Given the description of an element on the screen output the (x, y) to click on. 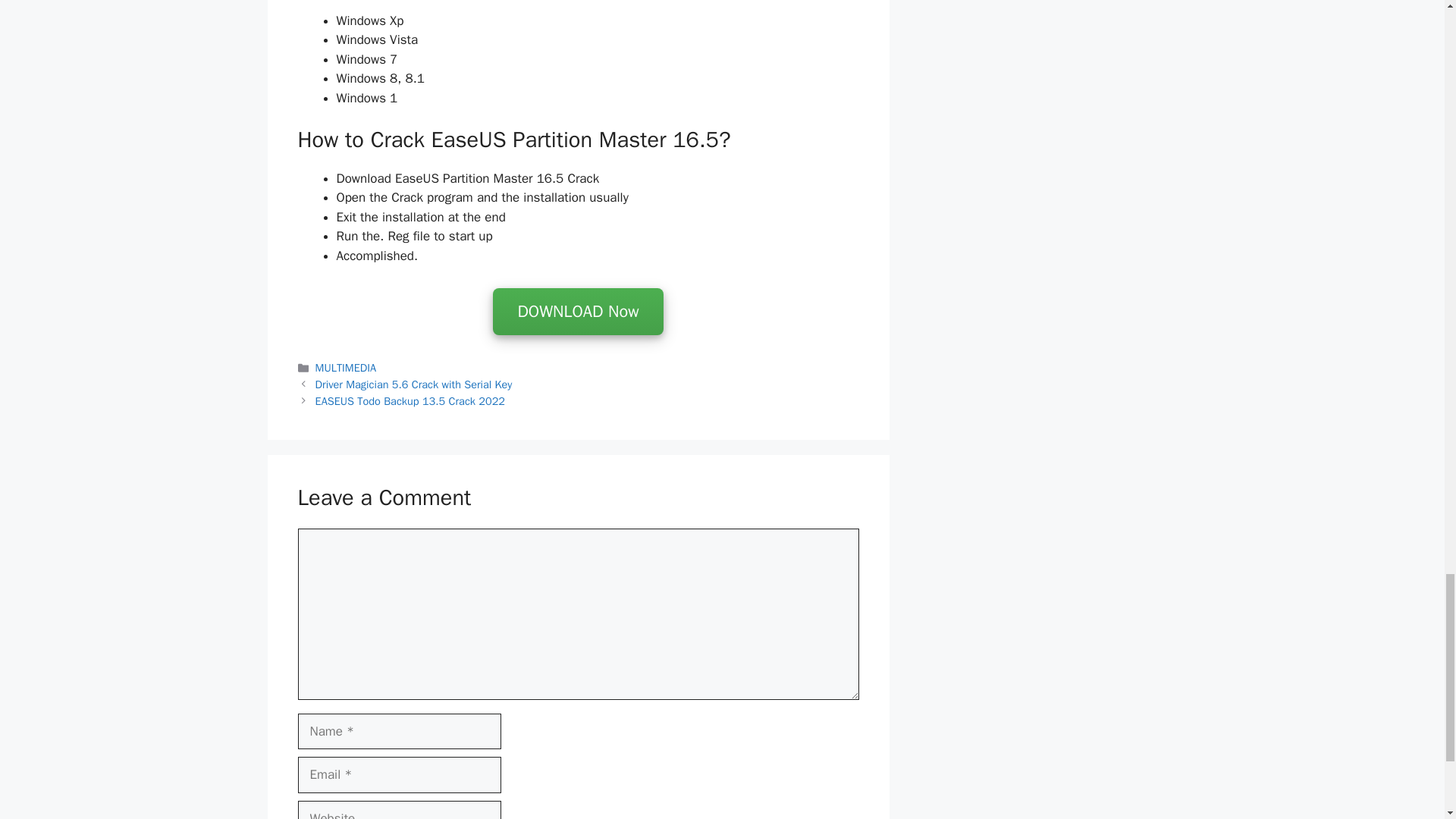
Driver Magician 5.6 Crack with Serial Key (413, 384)
EASEUS Todo Backup 13.5 Crack 2022 (410, 400)
DOWNLOAD Now (577, 312)
DOWNLOAD Now (577, 311)
MULTIMEDIA (346, 367)
